Given the description of an element on the screen output the (x, y) to click on. 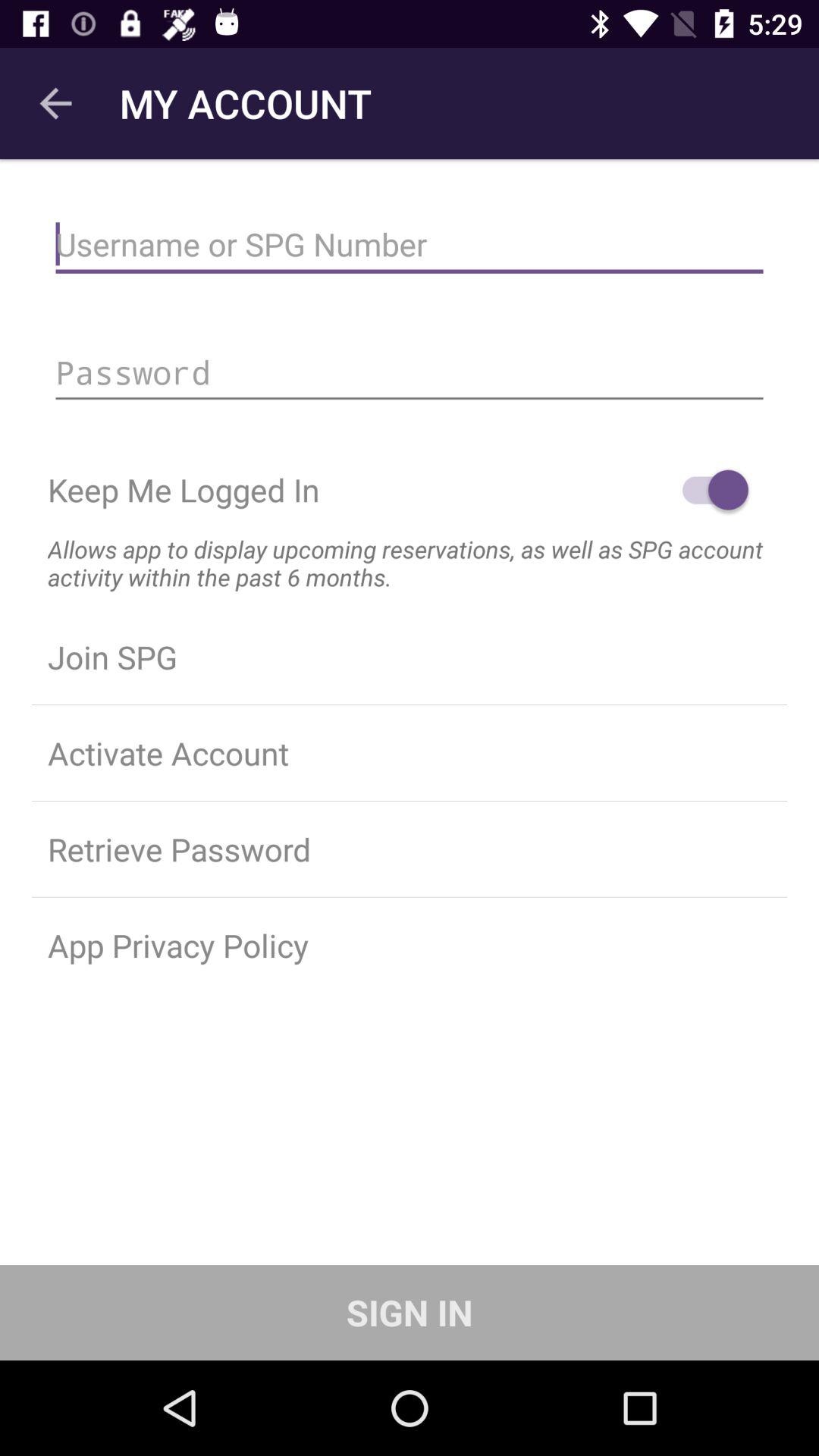
choose activate account icon (409, 752)
